Given the description of an element on the screen output the (x, y) to click on. 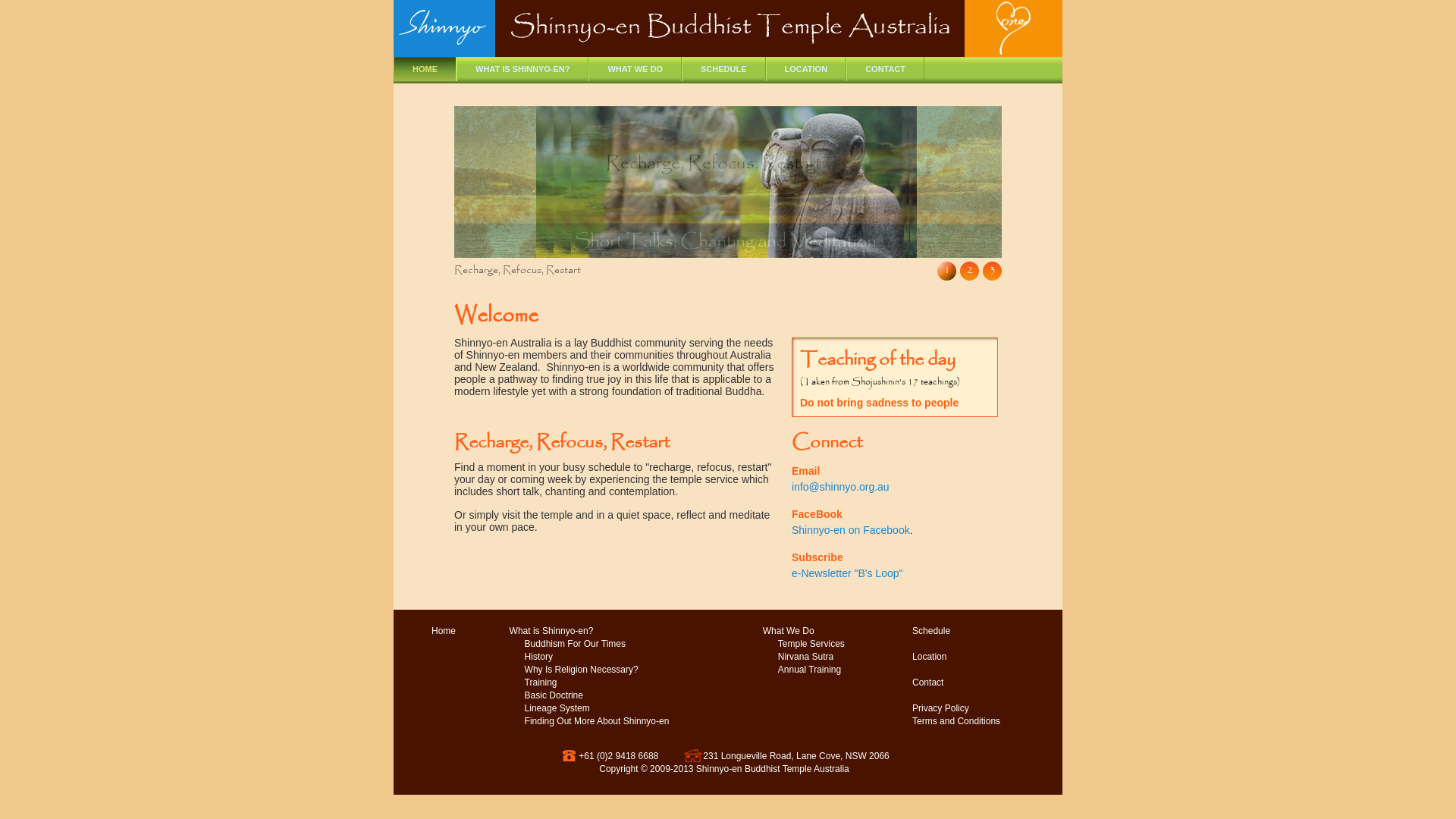
Privacy Policy Element type: text (940, 708)
Shinnyo Element type: hover (444, 32)
What is Shinnyo-en? Element type: text (551, 630)
Location Element type: text (929, 656)
History Element type: text (538, 656)
Buddhism For Our Times Element type: text (574, 643)
Basic Doctrine Element type: text (553, 695)
WHAT IS SHINNYO-EN? Element type: text (522, 68)
LOCATION Element type: text (806, 68)
1 Element type: text (946, 270)
Annual Training Element type: text (809, 669)
3 Element type: text (991, 270)
Shinnyo-en on Facebook Element type: text (850, 530)
Finding Out More About Shinnyo-en Element type: text (596, 721)
Lineage System Element type: text (557, 708)
2 Element type: text (969, 270)
Temple Services Element type: text (810, 643)
Training Element type: text (540, 682)
Schedule Element type: text (931, 630)
WHAT WE DO Element type: text (634, 68)
SCHEDULE Element type: text (723, 68)
info@shinnyo.org.au Element type: text (840, 486)
Terms and Conditions Element type: text (956, 721)
Why Is Religion Necessary? Element type: text (581, 669)
Home Element type: text (443, 630)
Nirvana Sutra Element type: text (805, 656)
Contact Element type: text (927, 682)
Shinnyo-en Buddhist Temple Australia Element type: hover (727, 27)
HOME Element type: text (424, 68)
e-Newsletter "B's Loop" Element type: text (846, 573)
Recharge, Refocus, Restart Element type: hover (727, 181)
One Heart Element type: hover (1013, 28)
What We Do Element type: text (788, 630)
CONTACT Element type: text (885, 68)
